Given the description of an element on the screen output the (x, y) to click on. 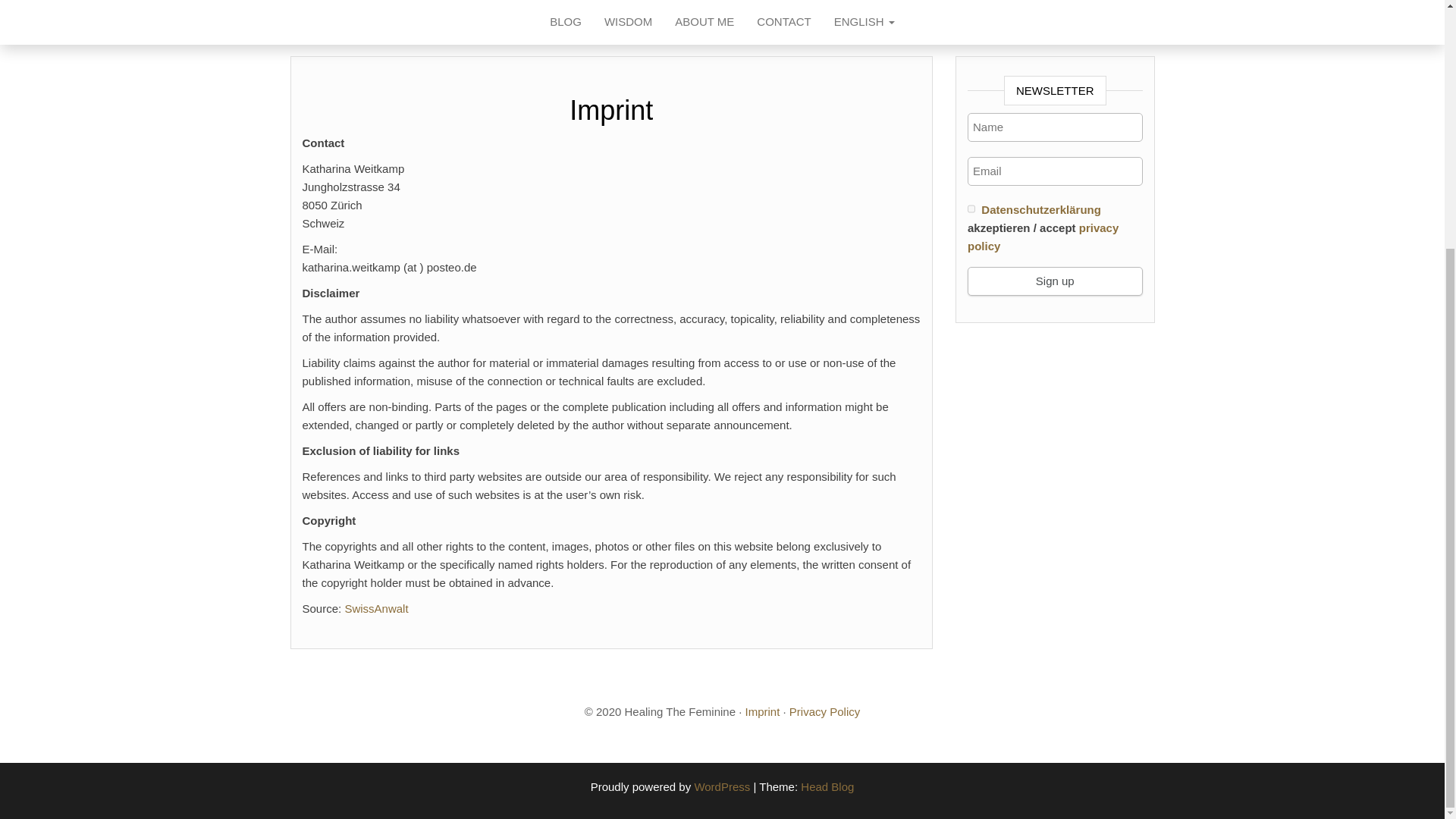
Privacy Policy (824, 711)
WordPress (721, 786)
Blog (565, 22)
About Me (704, 22)
Contact (783, 22)
Imprint (761, 711)
ABOUT ME (704, 22)
Head Blog (826, 786)
Wisdom (627, 22)
